Given the description of an element on the screen output the (x, y) to click on. 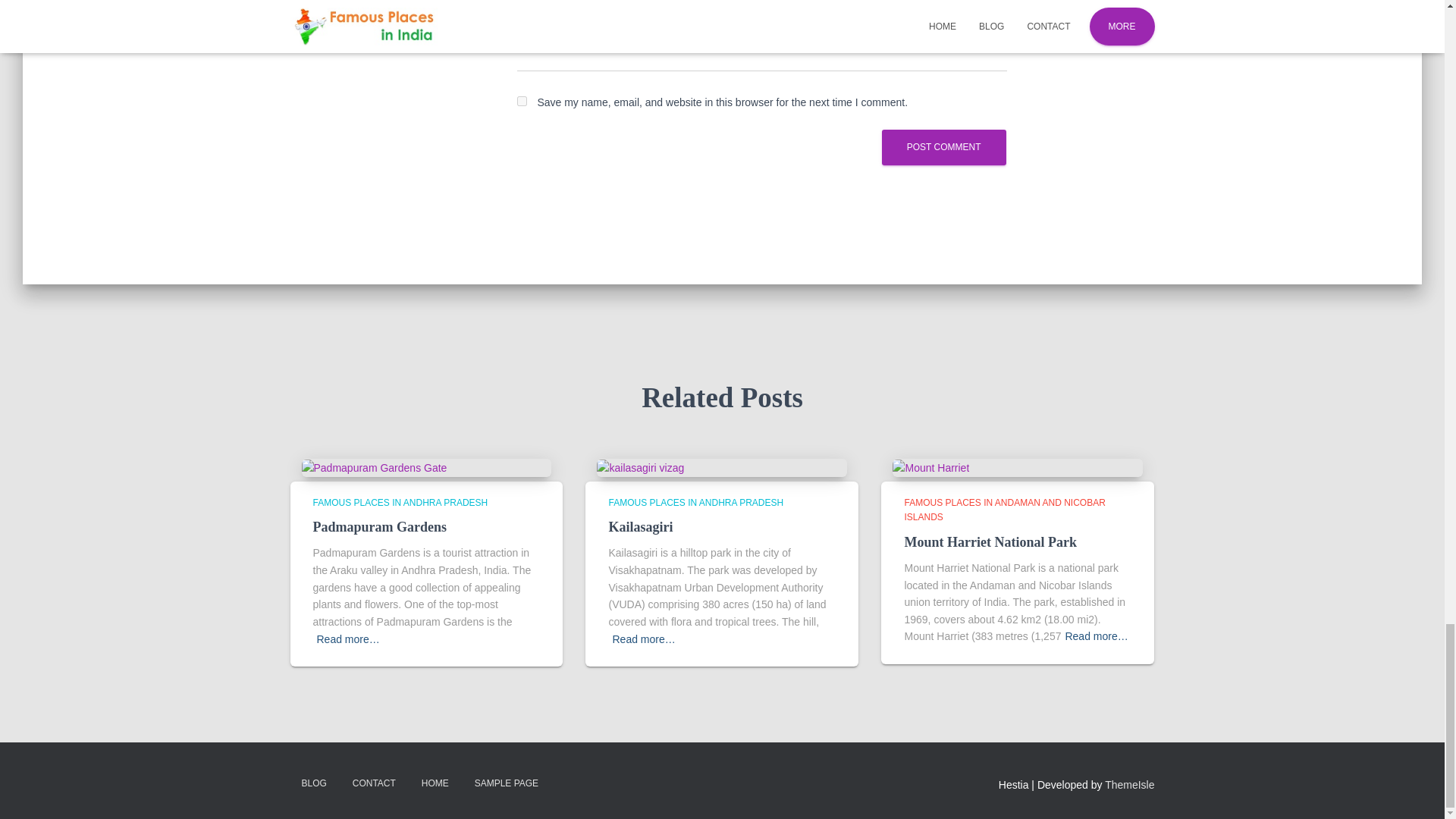
View all posts in Famous Places in Andhra Pradesh (695, 502)
FAMOUS PLACES IN ANDHRA PRADESH (400, 502)
Padmapuram Gardens (379, 526)
Padmapuram Gardens (379, 526)
Post Comment (944, 147)
Kailasagiri (640, 526)
Padmapuram Gardens (373, 467)
BLOG (313, 783)
SAMPLE PAGE (506, 783)
Post Comment (944, 147)
ThemeIsle (1129, 784)
HOME (435, 783)
View all posts in Famous Places in Andhra Pradesh (400, 502)
yes (521, 101)
FAMOUS PLACES IN ANDAMAN AND NICOBAR ISLANDS (1004, 509)
